Given the description of an element on the screen output the (x, y) to click on. 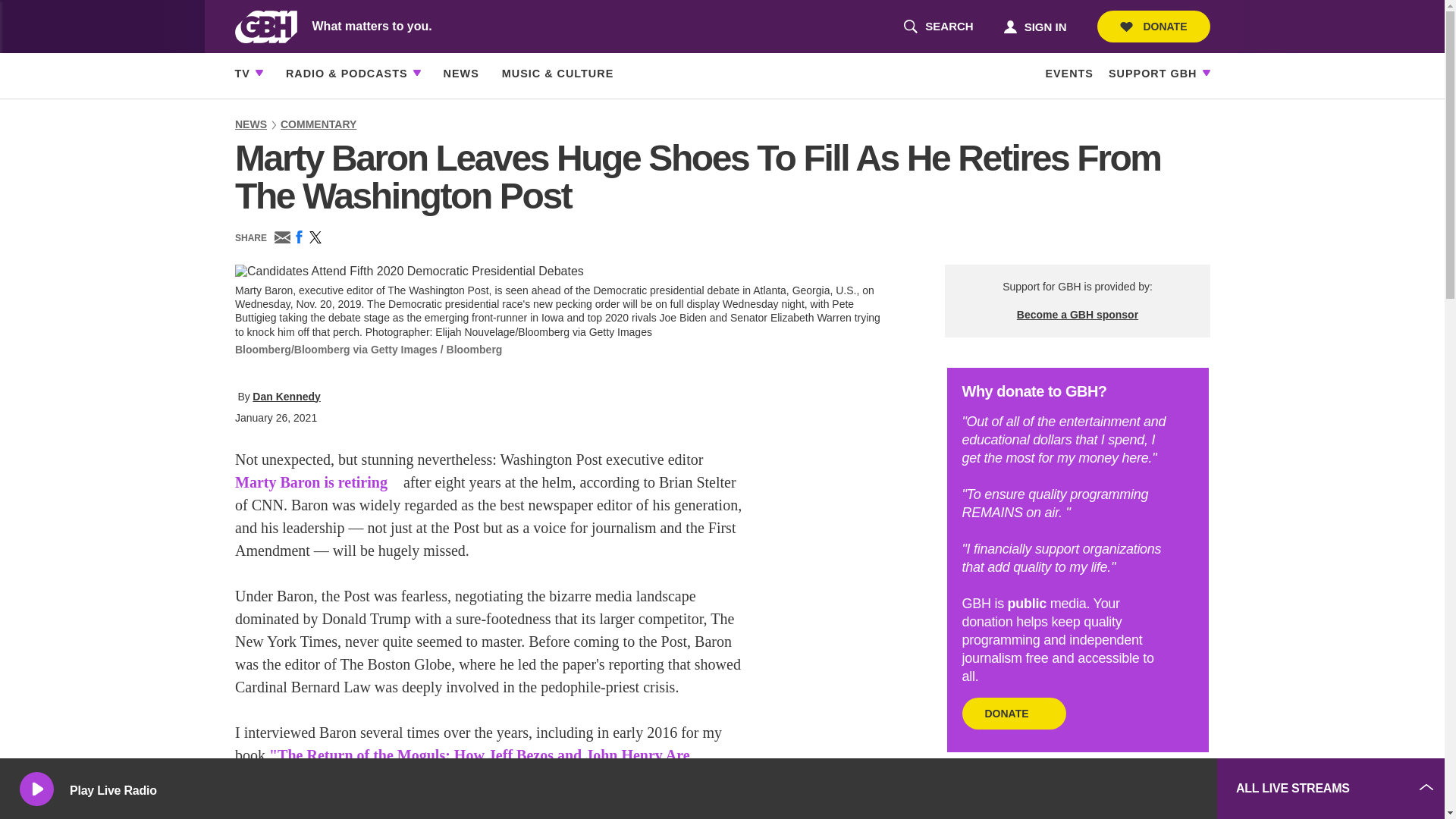
SIGN IN (1034, 25)
DONATE (937, 26)
